Given the description of an element on the screen output the (x, y) to click on. 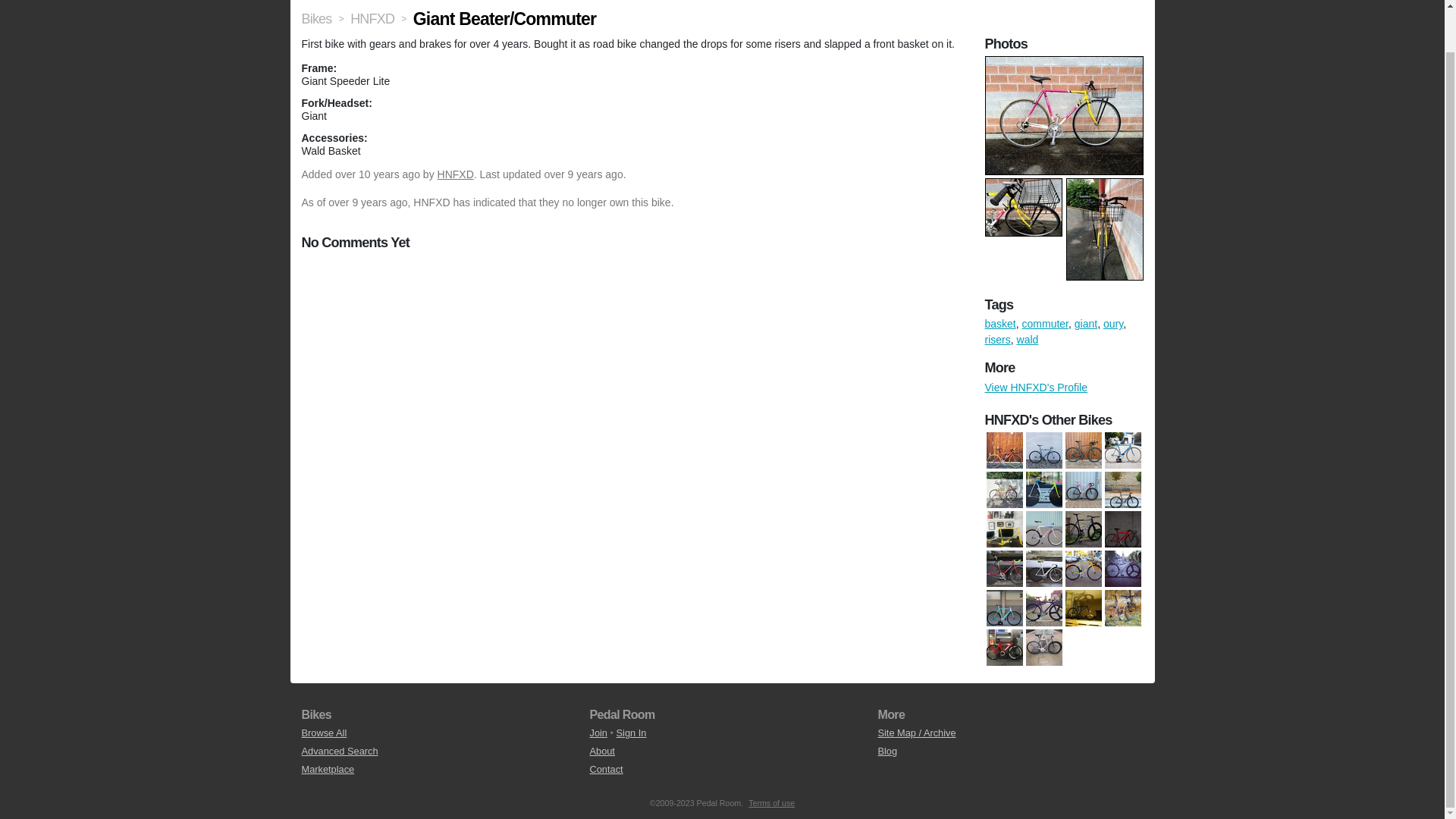
HNFXD (456, 174)
oury (1112, 323)
View member, HNFXD (456, 174)
View HNFXD's profile (372, 18)
basket (999, 323)
Find all bikes tagged commuter (1045, 323)
risers (997, 339)
giant (1085, 323)
Find all bikes tagged basket (999, 323)
HNFXD (372, 18)
